Given the description of an element on the screen output the (x, y) to click on. 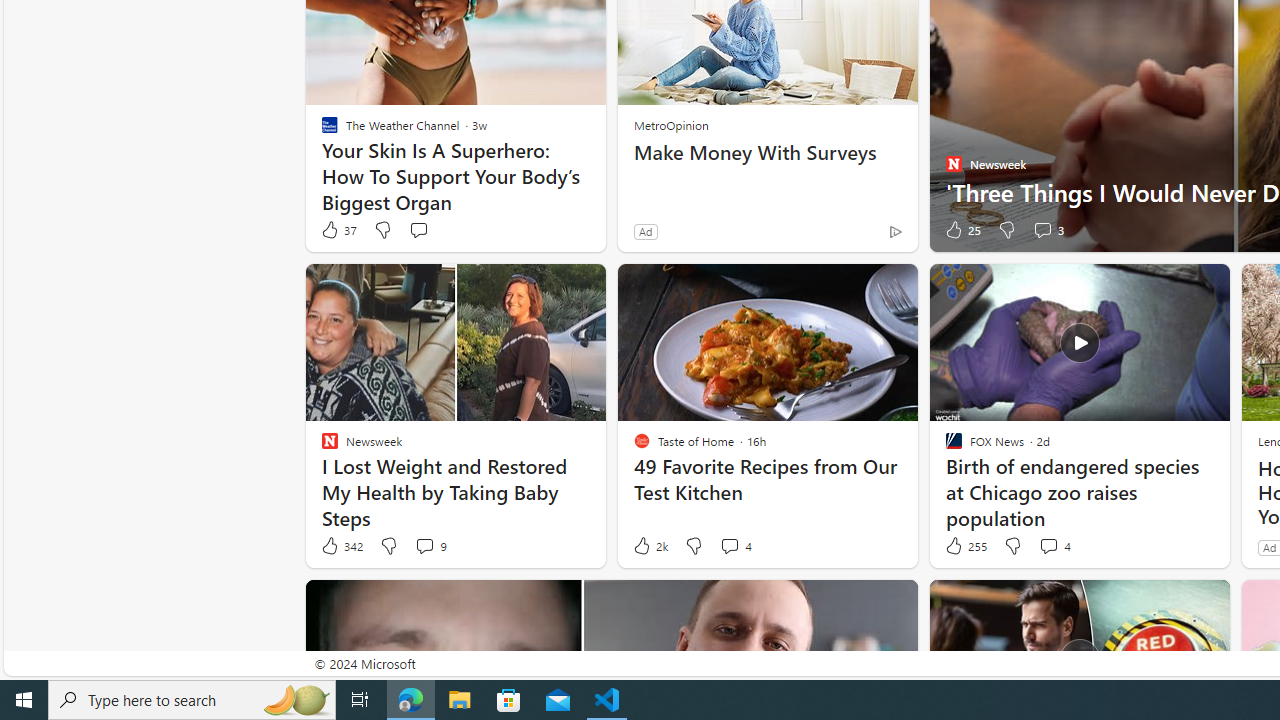
View comments 4 Comment (1054, 546)
View comments 4 Comment (1048, 545)
Make Money With Surveys (767, 152)
37 Like (337, 230)
MetroOpinion (671, 124)
View comments 3 Comment (1048, 230)
View comments 9 Comment (424, 545)
342 Like (341, 546)
255 Like (964, 546)
25 Like (961, 230)
2k Like (649, 546)
